Given the description of an element on the screen output the (x, y) to click on. 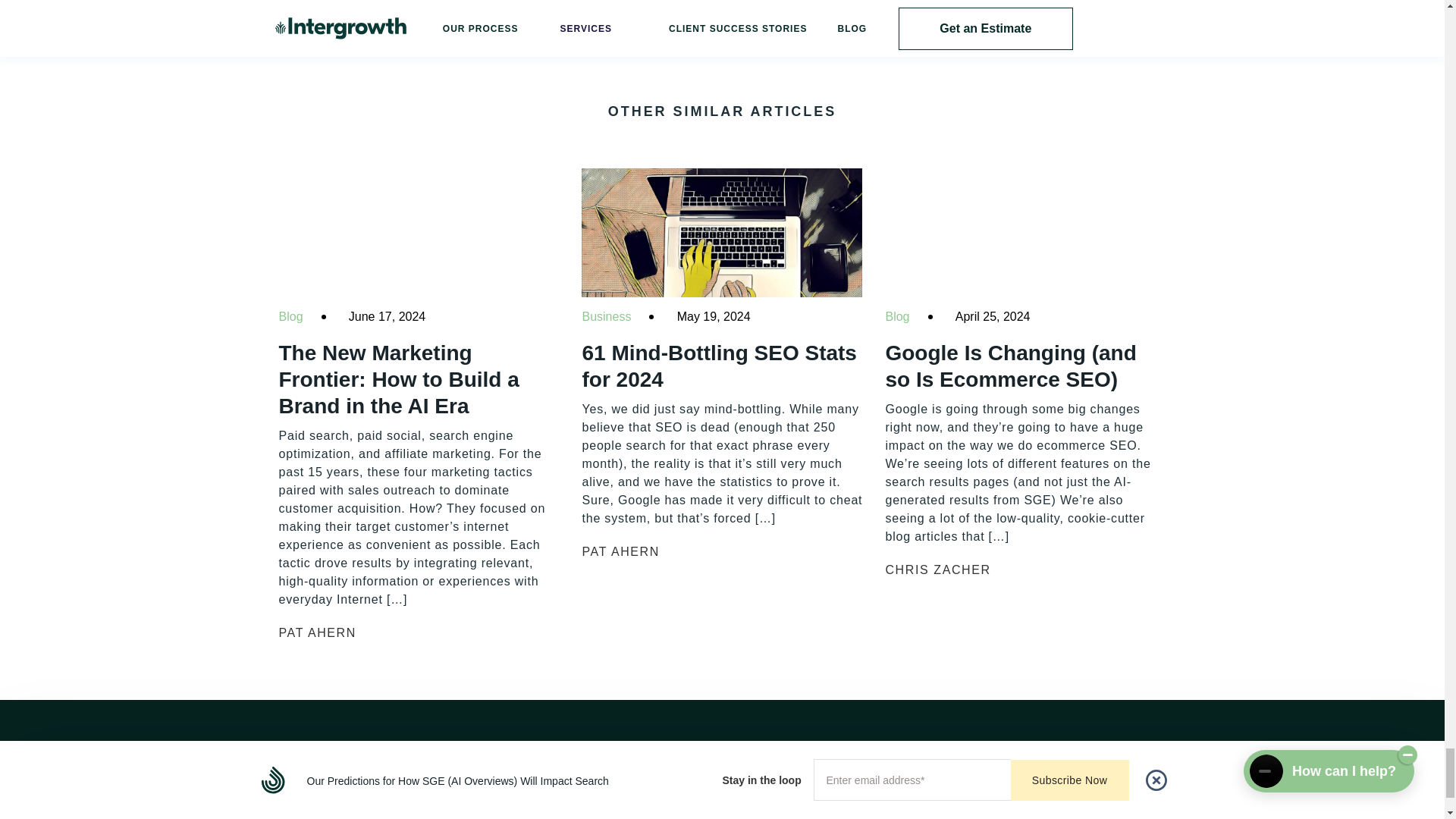
SHARE (1103, 2)
